Given the description of an element on the screen output the (x, y) to click on. 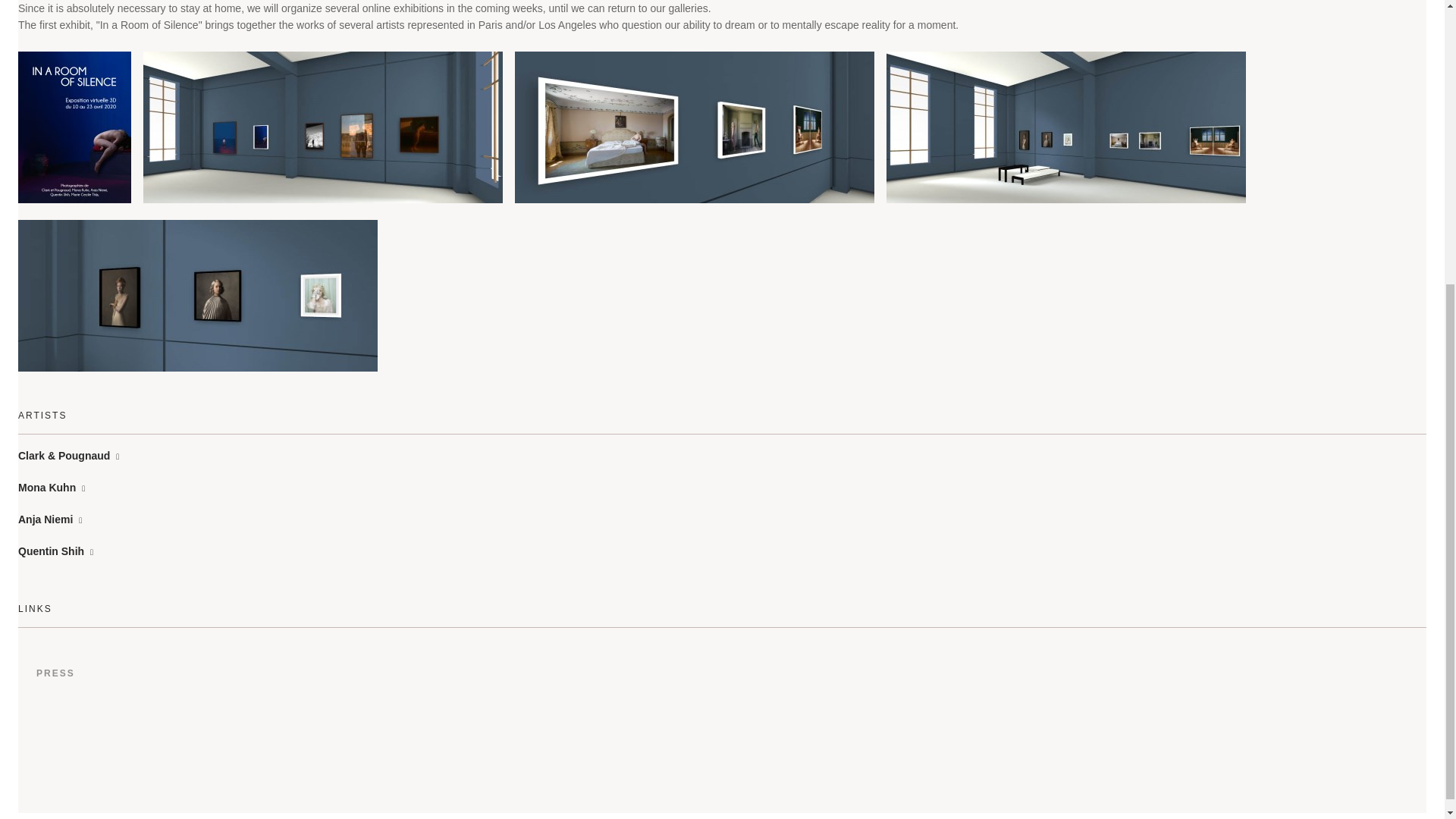
Mona Kuhn (50, 487)
Anja Niemi (49, 519)
Quentin Shih (55, 551)
